Given the description of an element on the screen output the (x, y) to click on. 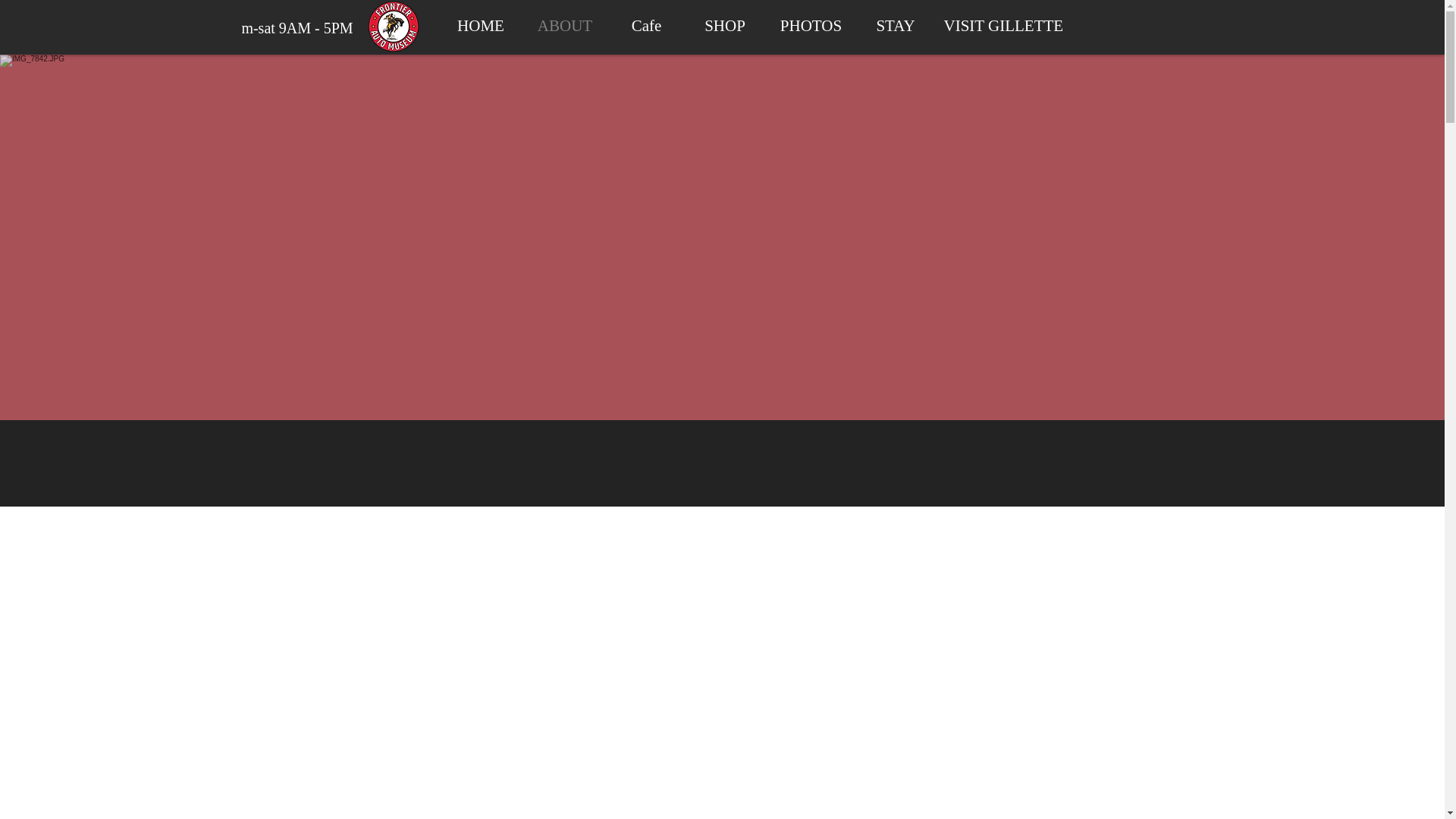
PHOTOS (810, 24)
HOME (480, 24)
SHOP (725, 24)
ABOUT (564, 24)
Cafe (646, 24)
VISIT GILLETTE (998, 24)
STAY (895, 24)
